Given the description of an element on the screen output the (x, y) to click on. 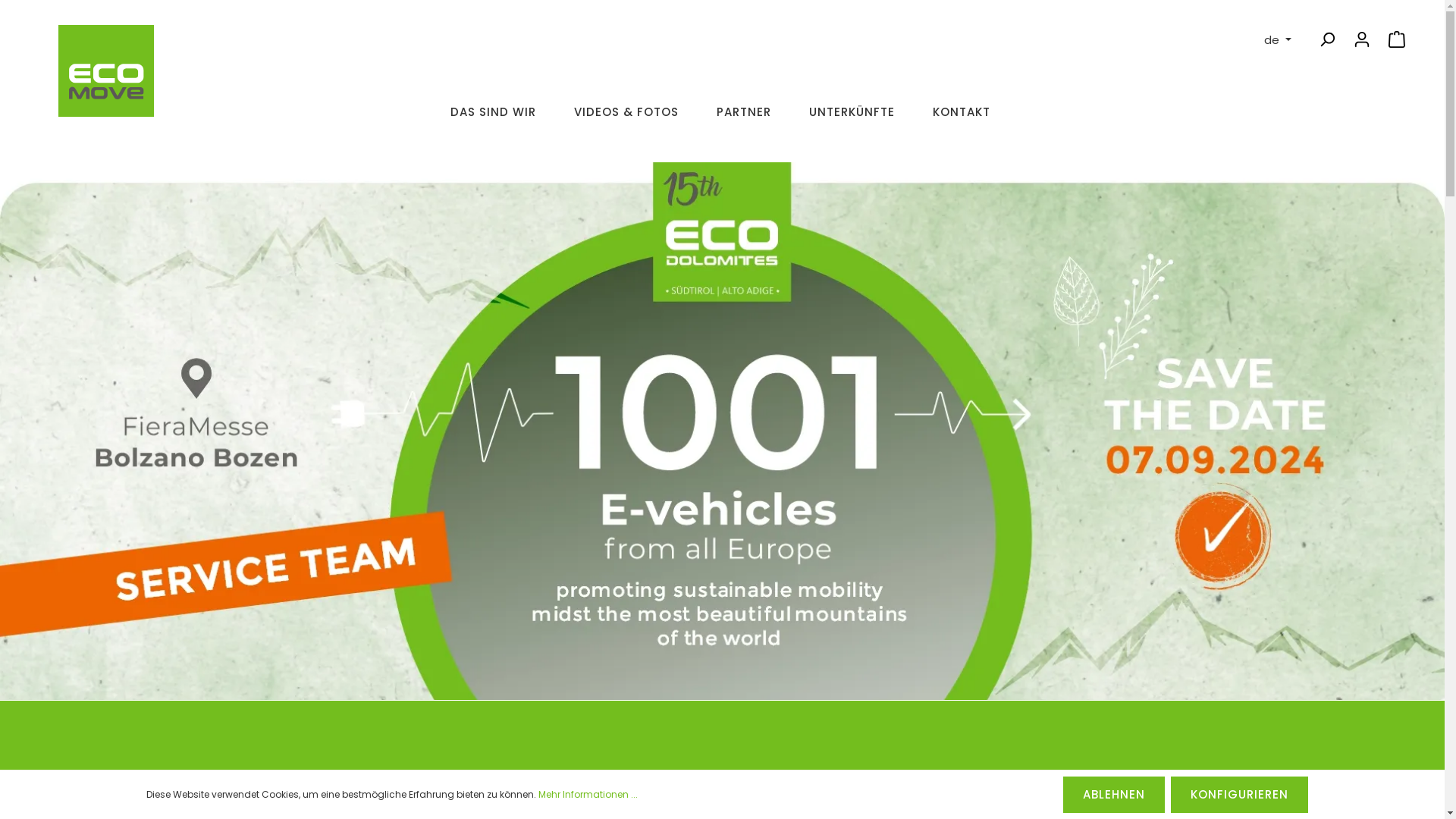
Warenkorb Element type: hover (1396, 39)
KONTAKT Element type: text (961, 117)
Mehr Informationen ... Element type: text (587, 794)
Zur Startseite gehen Element type: hover (106, 78)
PARTNER Element type: text (743, 117)
de Element type: text (1277, 39)
DAS SIND WIR Element type: text (493, 117)
Ihr Konto Element type: hover (1361, 39)
VIDEOS & FOTOS Element type: text (626, 117)
ABLEHNEN Element type: text (1113, 794)
KONFIGURIEREN Element type: text (1239, 794)
